Given the description of an element on the screen output the (x, y) to click on. 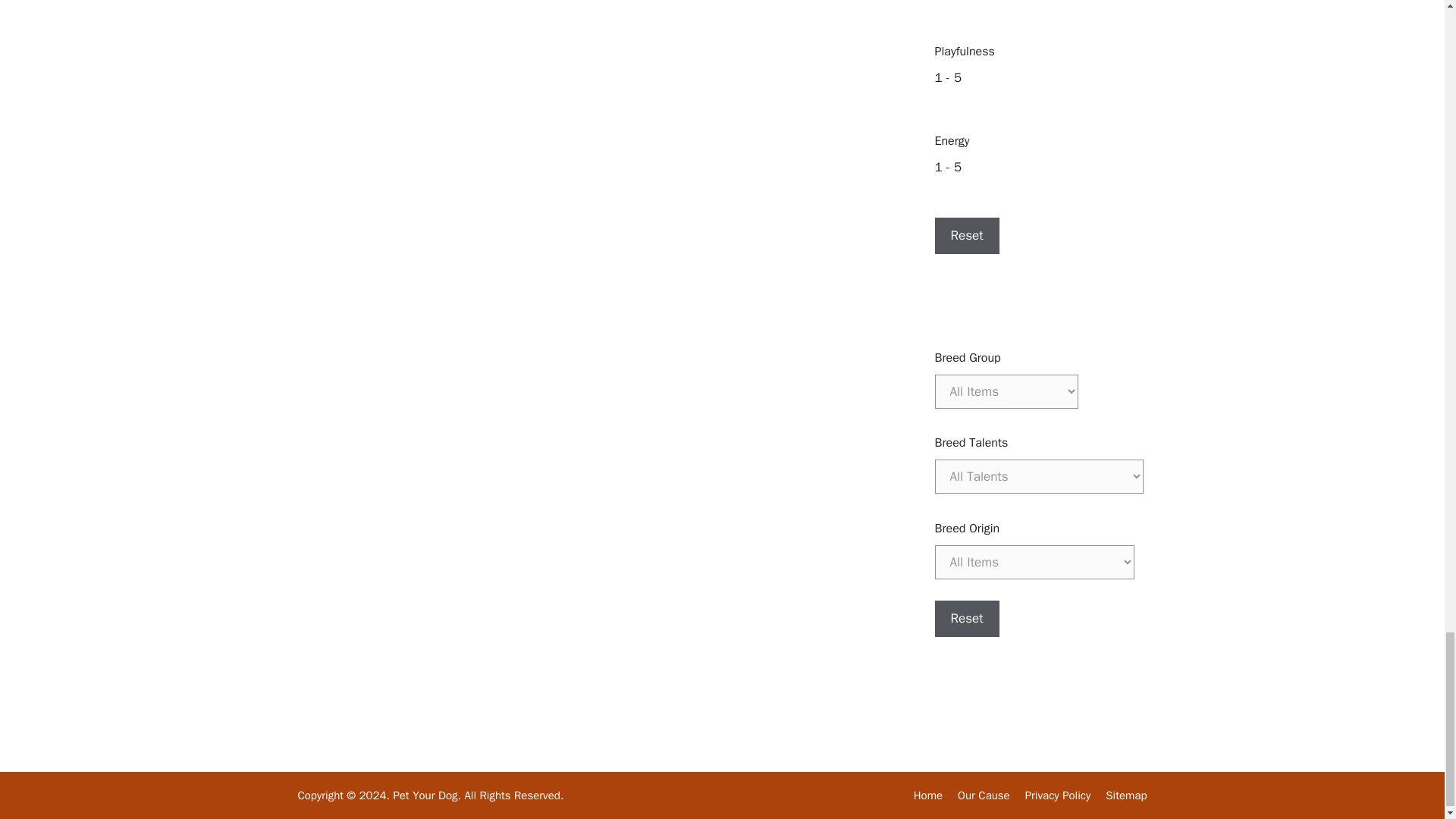
Reset (966, 235)
Reset (966, 618)
Reset (966, 618)
Reset (966, 235)
